Given the description of an element on the screen output the (x, y) to click on. 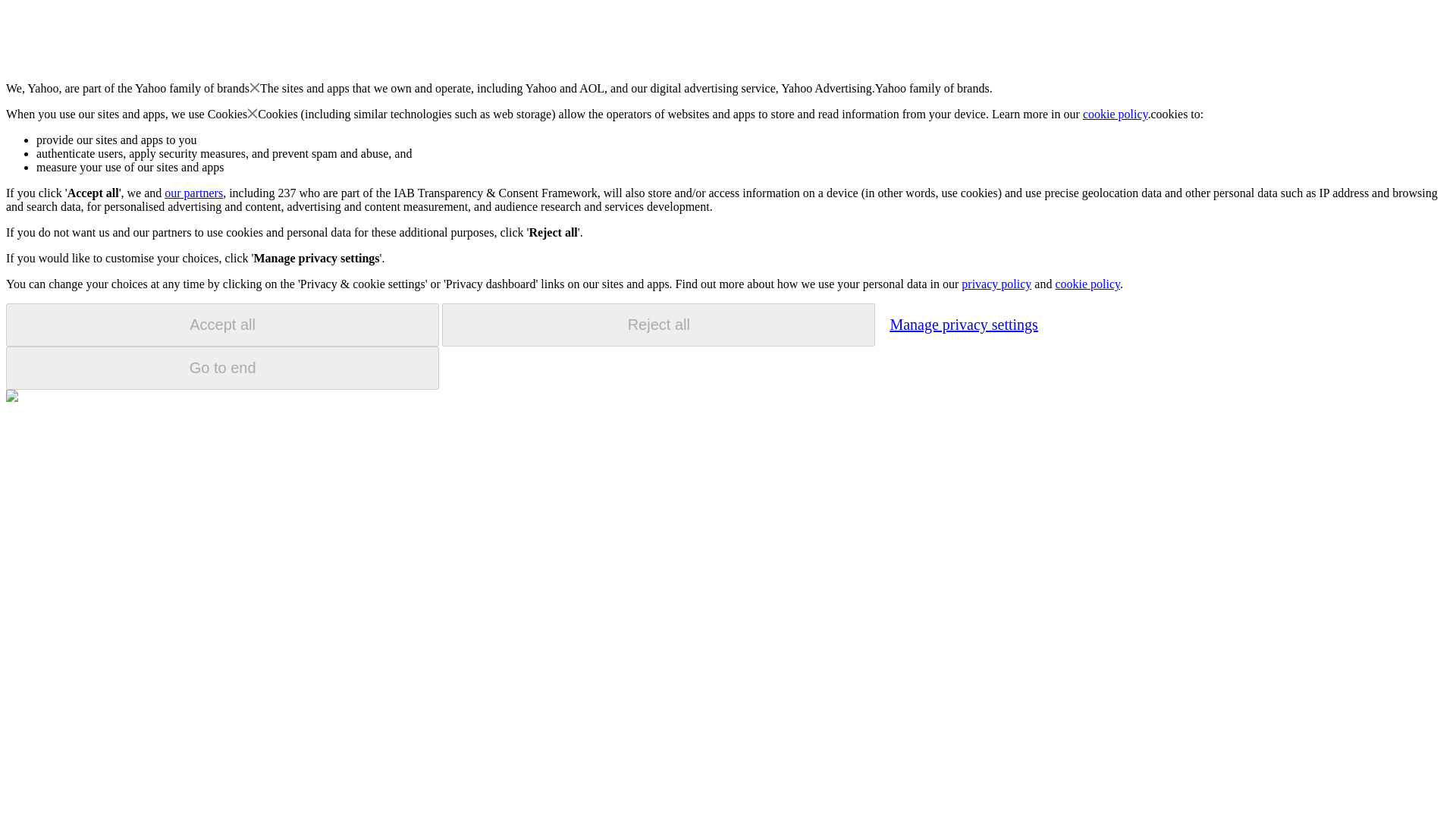
cookie policy (1115, 113)
Manage privacy settings (963, 323)
Go to end (222, 367)
our partners (193, 192)
Accept all (222, 324)
Reject all (658, 324)
privacy policy (995, 283)
cookie policy (1086, 283)
